Given the description of an element on the screen output the (x, y) to click on. 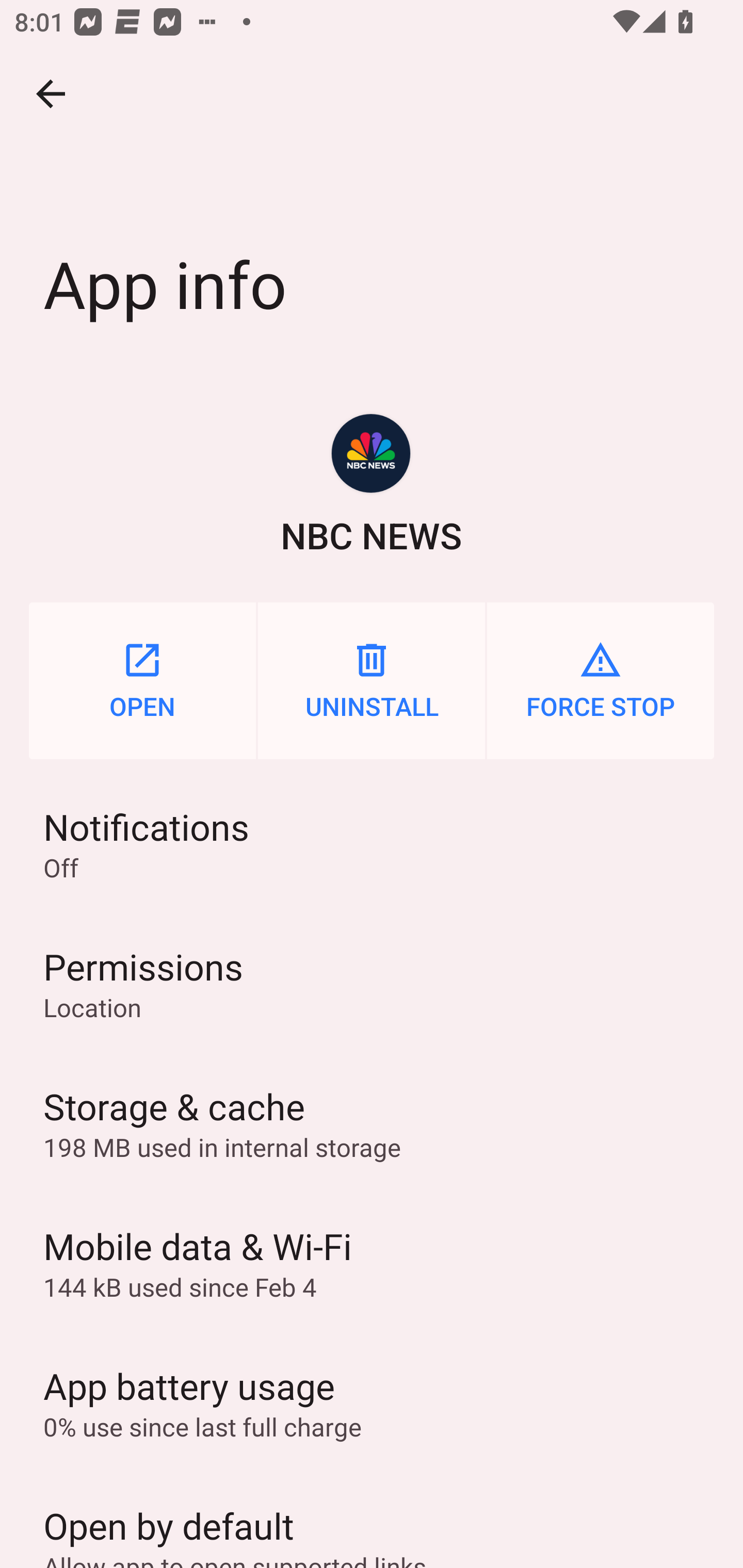
Navigate up (50, 93)
OPEN (141, 680)
UNINSTALL (371, 680)
FORCE STOP (600, 680)
Notifications Off (371, 843)
Permissions Location (371, 983)
Storage & cache 198 MB used in internal storage (371, 1123)
Mobile data & Wi‑Fi 144 kB used since Feb 4 (371, 1262)
App battery usage 0% use since last full charge (371, 1402)
